Given the description of an element on the screen output the (x, y) to click on. 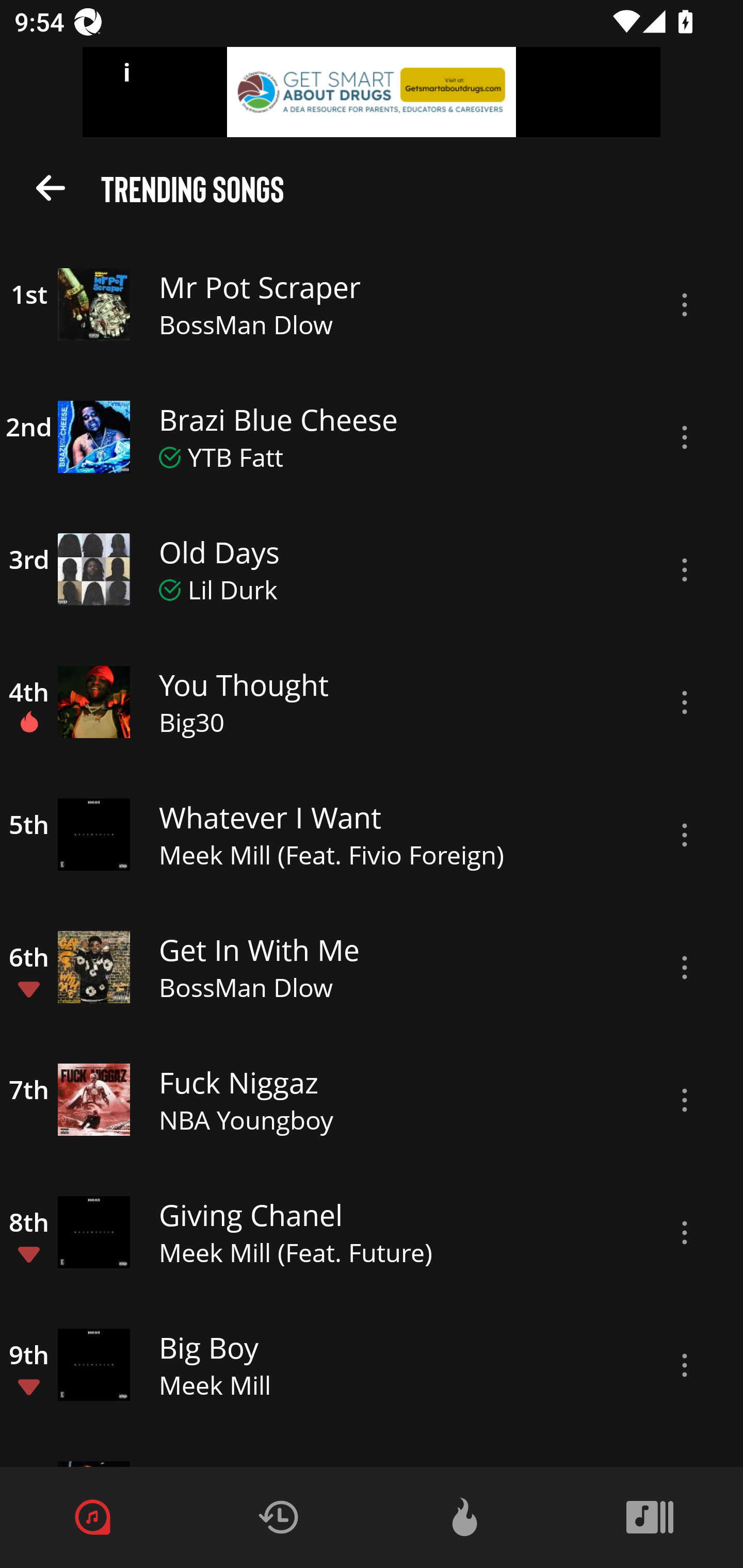
Description (685, 304)
Description (685, 437)
Description (685, 569)
Description (685, 702)
Description (685, 834)
Description (685, 968)
Description (685, 1099)
Description (685, 1233)
Description (685, 1364)
